Given the description of an element on the screen output the (x, y) to click on. 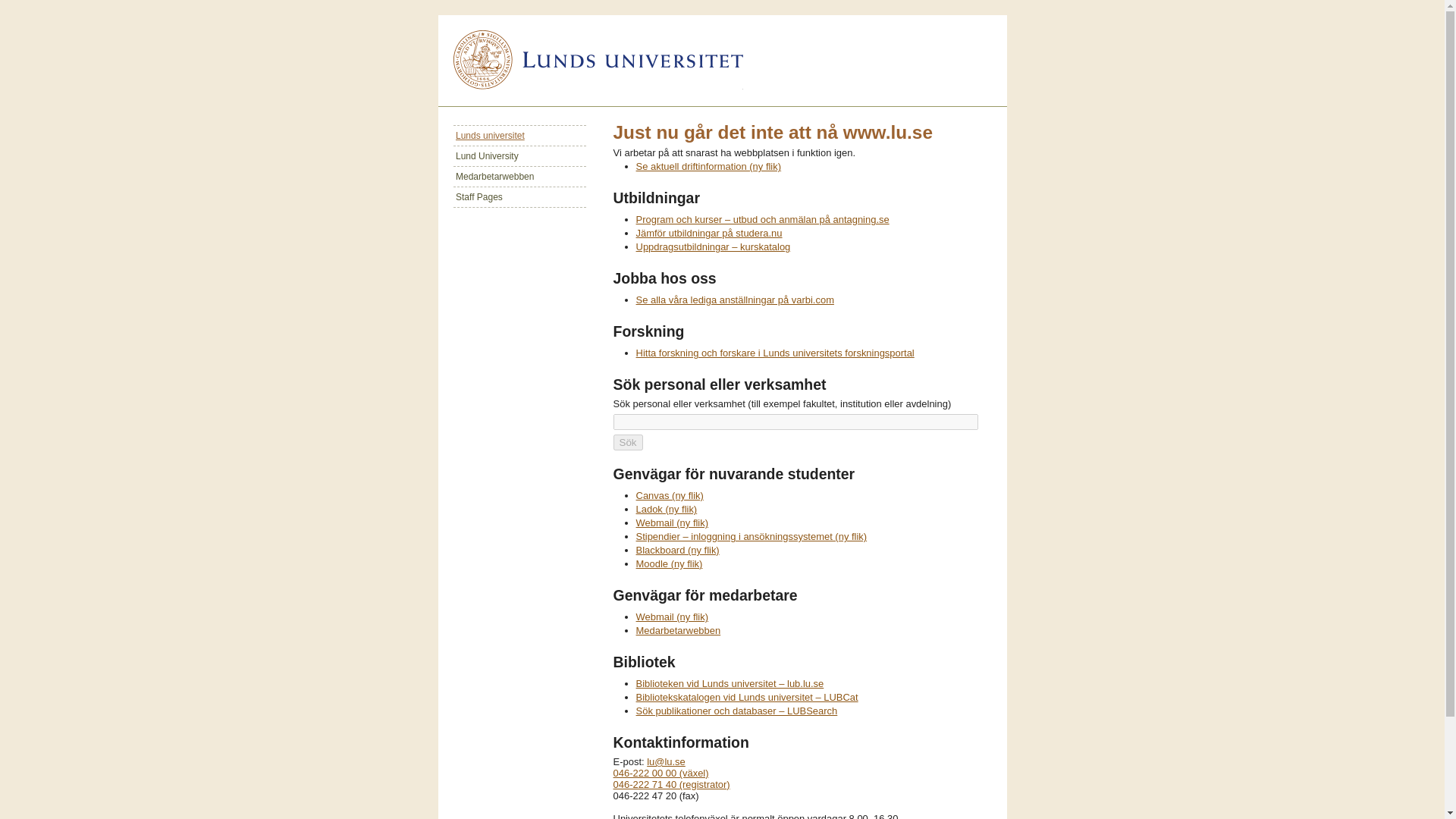
Medarbetarwebben (678, 630)
Lunds universitet (519, 135)
Staff Pages (519, 196)
Lund University (519, 155)
Medarbetarwebben (519, 176)
